Given the description of an element on the screen output the (x, y) to click on. 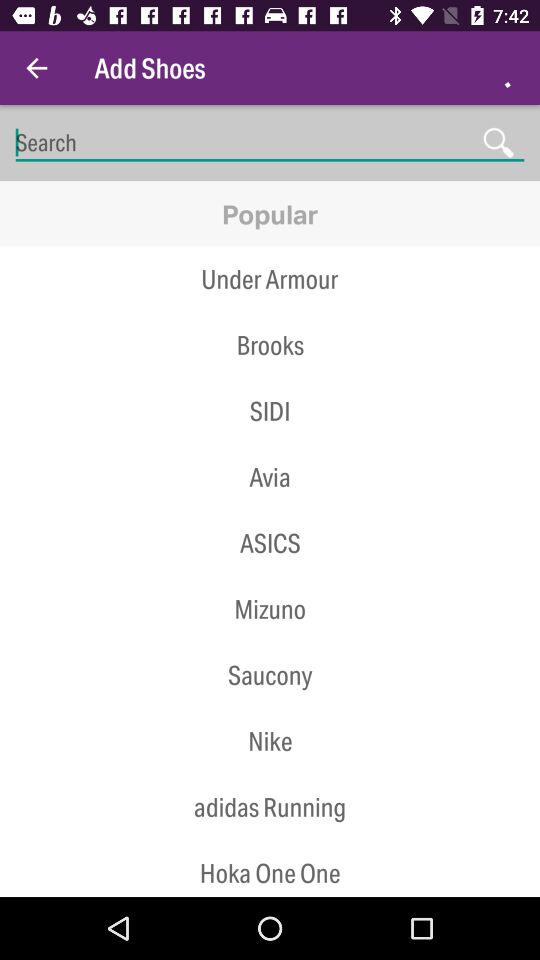
press icon above saucony (270, 641)
